Given the description of an element on the screen output the (x, y) to click on. 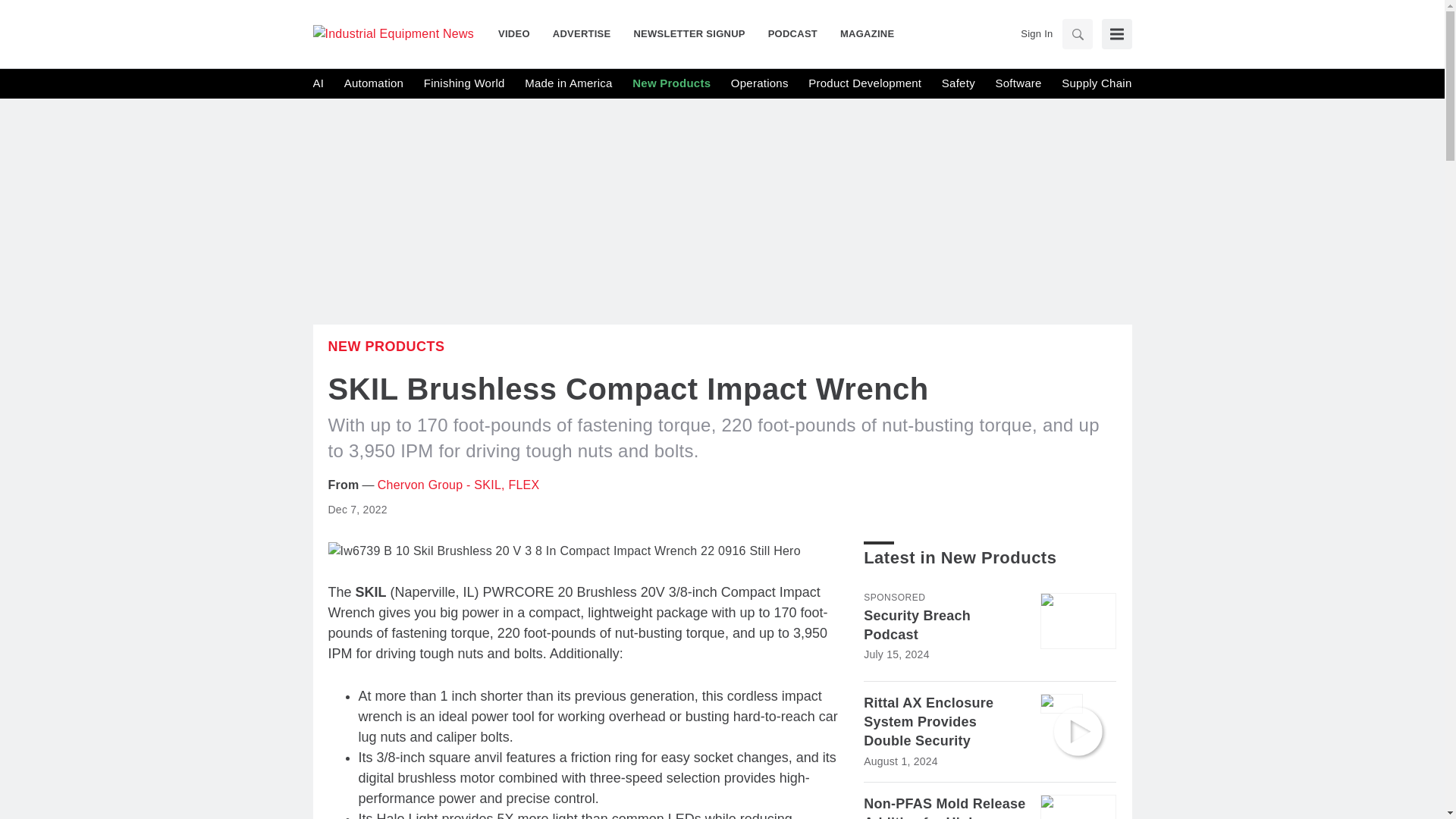
VIDEO (519, 33)
Safety (958, 83)
MAGAZINE (860, 33)
NEWSLETTER SIGNUP (688, 33)
Sponsored (893, 596)
PODCAST (792, 33)
Operations (759, 83)
Supply Chain (1096, 83)
Software (1017, 83)
New Products (670, 83)
Finishing World (464, 83)
ADVERTISE (582, 33)
Automation (373, 83)
Made in America (567, 83)
Sign In (1036, 33)
